Given the description of an element on the screen output the (x, y) to click on. 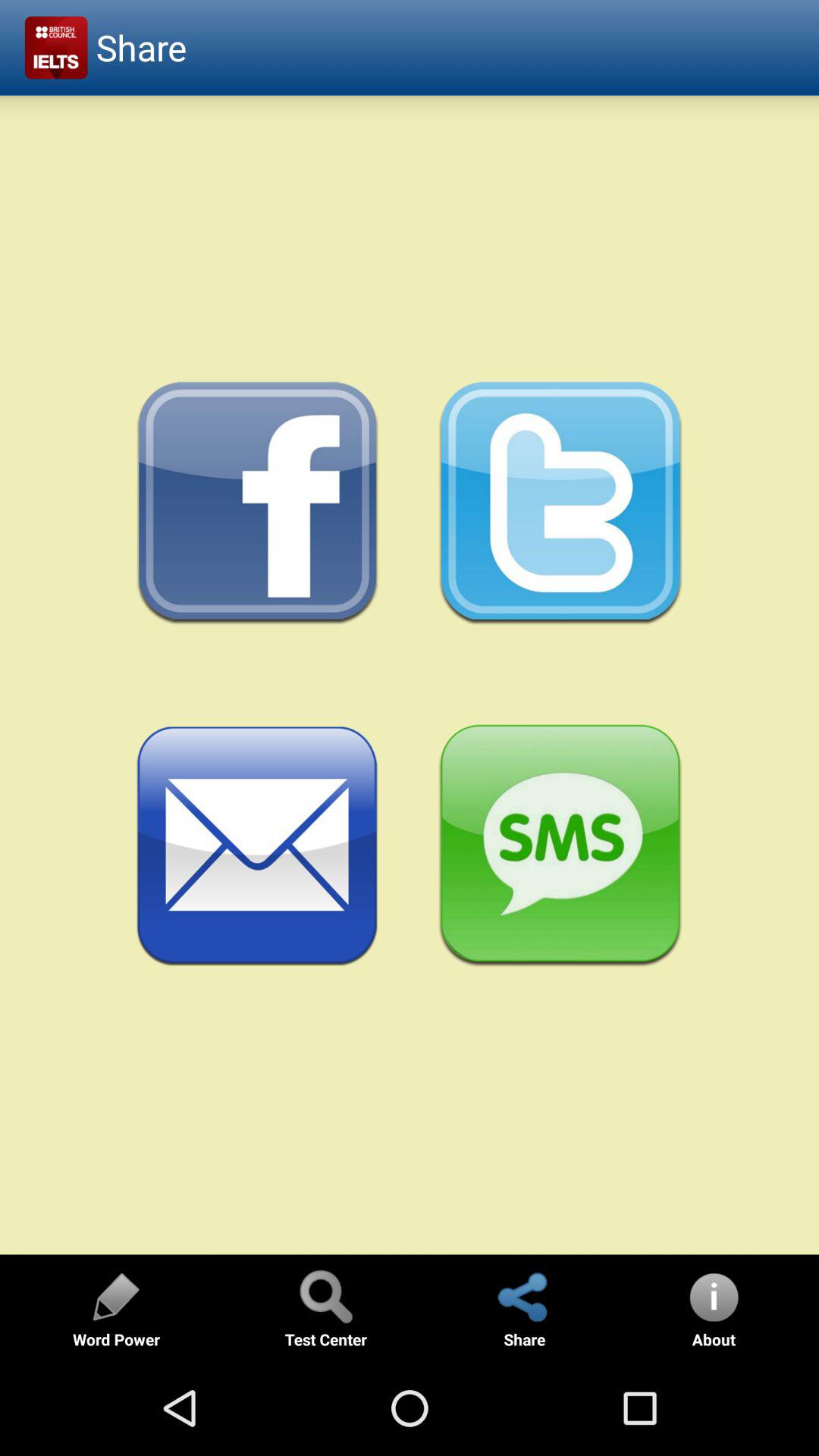
email button (257, 846)
